Given the description of an element on the screen output the (x, y) to click on. 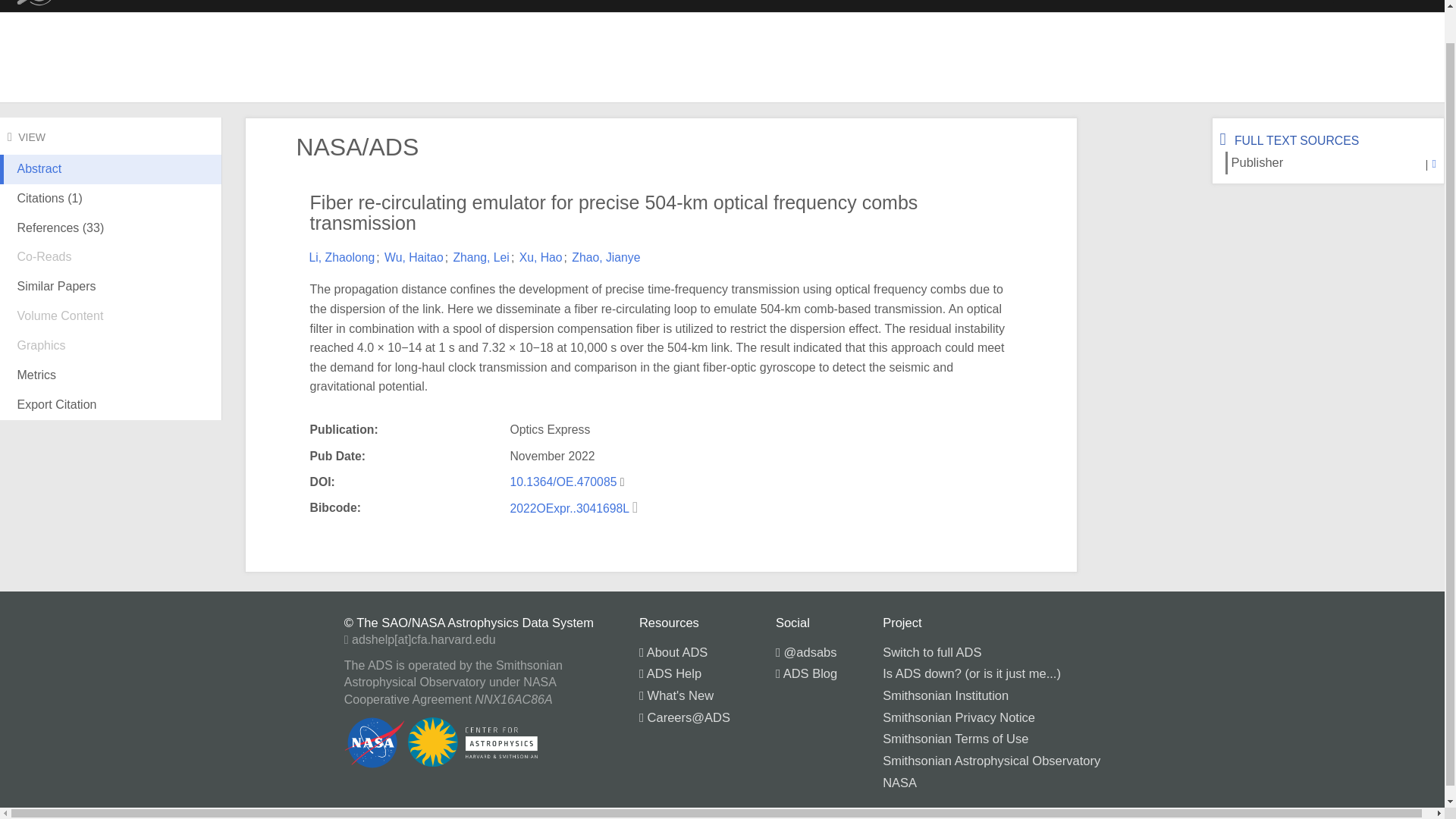
Abstract (110, 181)
2022OExpr..3041698L (570, 508)
Wu, Haitao (414, 256)
Smithsonian Institution (945, 694)
Li, Zhaolong (341, 256)
Smithsonian Privacy Notice (958, 716)
Zhang, Lei (480, 256)
ADS Blog (806, 673)
Export Citation (110, 405)
Smithsonian Astrophysical Observatory (991, 760)
NASA (899, 781)
ADS Help (670, 673)
About ADS (673, 652)
Zhao, Jianye (606, 256)
Xu, Hao (540, 256)
